Given the description of an element on the screen output the (x, y) to click on. 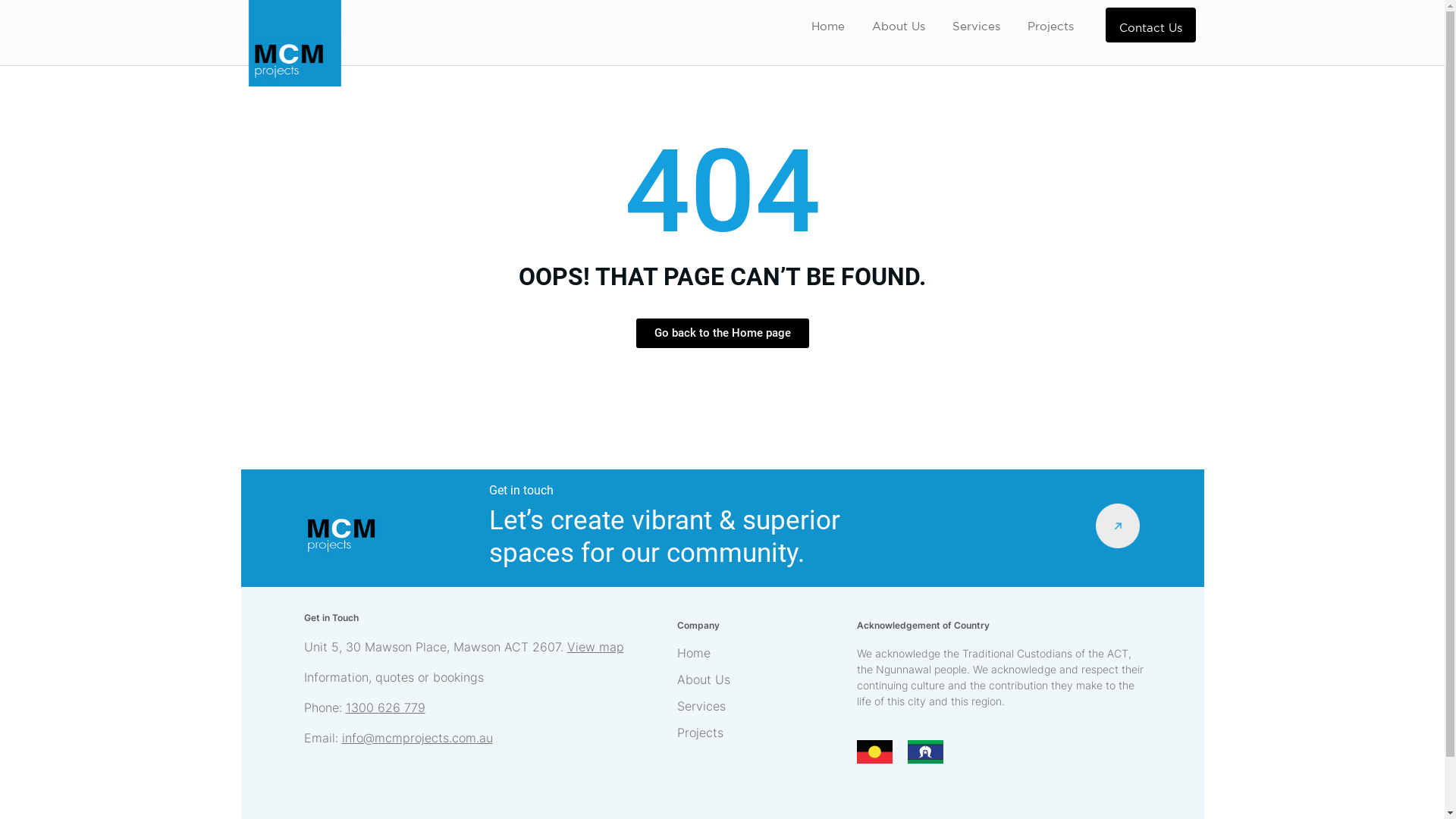
Home Element type: text (759, 652)
Services Element type: text (976, 27)
Home Element type: text (827, 27)
1300 626 779 Element type: text (385, 707)
View map Element type: text (595, 646)
Projects Element type: text (1050, 27)
Go back to the Home page Element type: text (721, 333)
Services Element type: text (759, 705)
Projects Element type: text (759, 732)
info@mcmprojects.com.au Element type: text (416, 737)
About Us Element type: text (898, 27)
About Us Element type: text (759, 679)
Contact Us Element type: text (1150, 24)
